Given the description of an element on the screen output the (x, y) to click on. 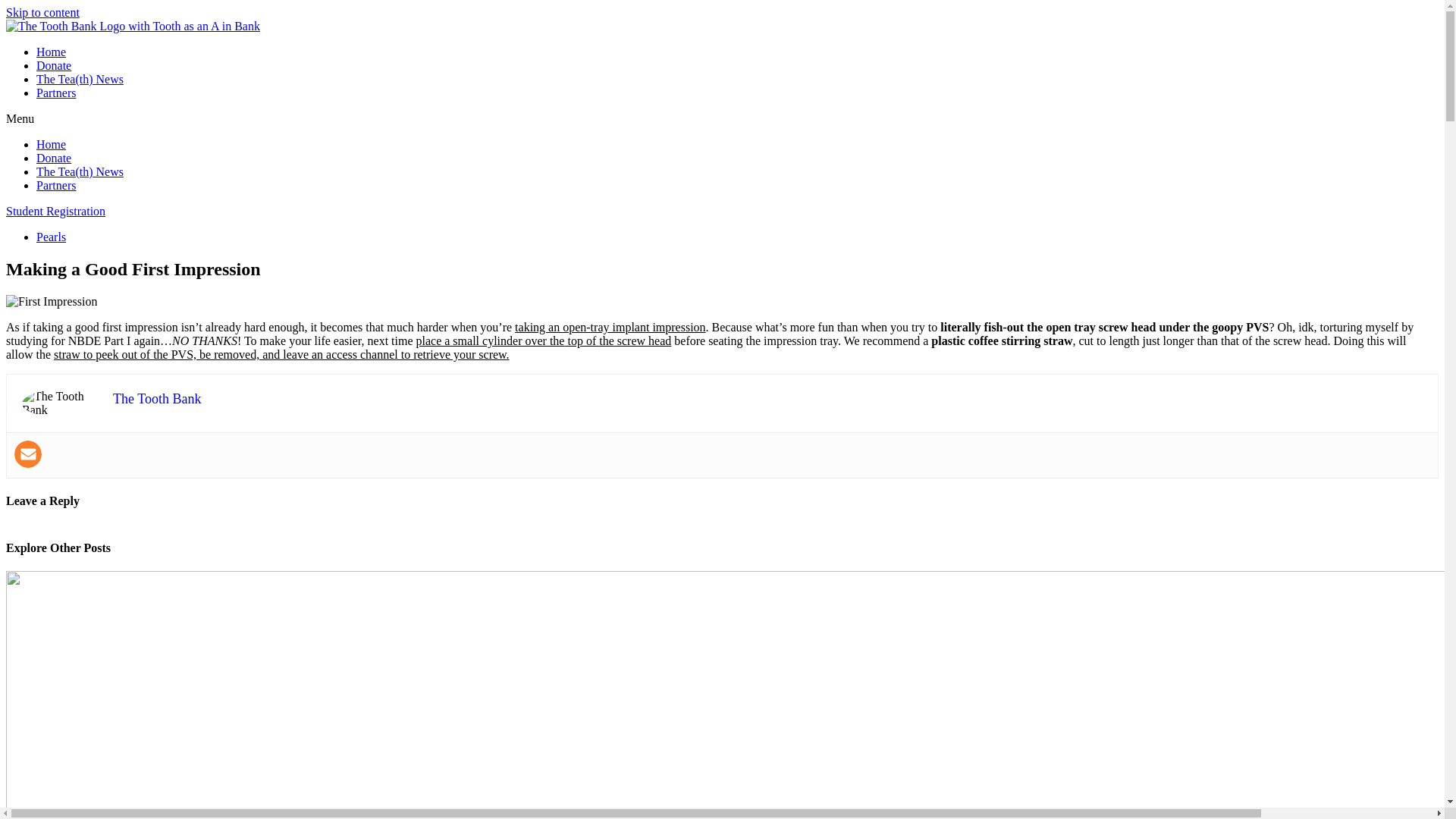
The Tooth Bank (156, 398)
Skip to content (42, 11)
First Impression (51, 301)
Donate (53, 157)
Home (50, 51)
Home (50, 144)
User email (28, 453)
Student Registration (54, 210)
Partners (55, 92)
Pearls (50, 236)
Donate (53, 65)
Partners (55, 185)
